Given the description of an element on the screen output the (x, y) to click on. 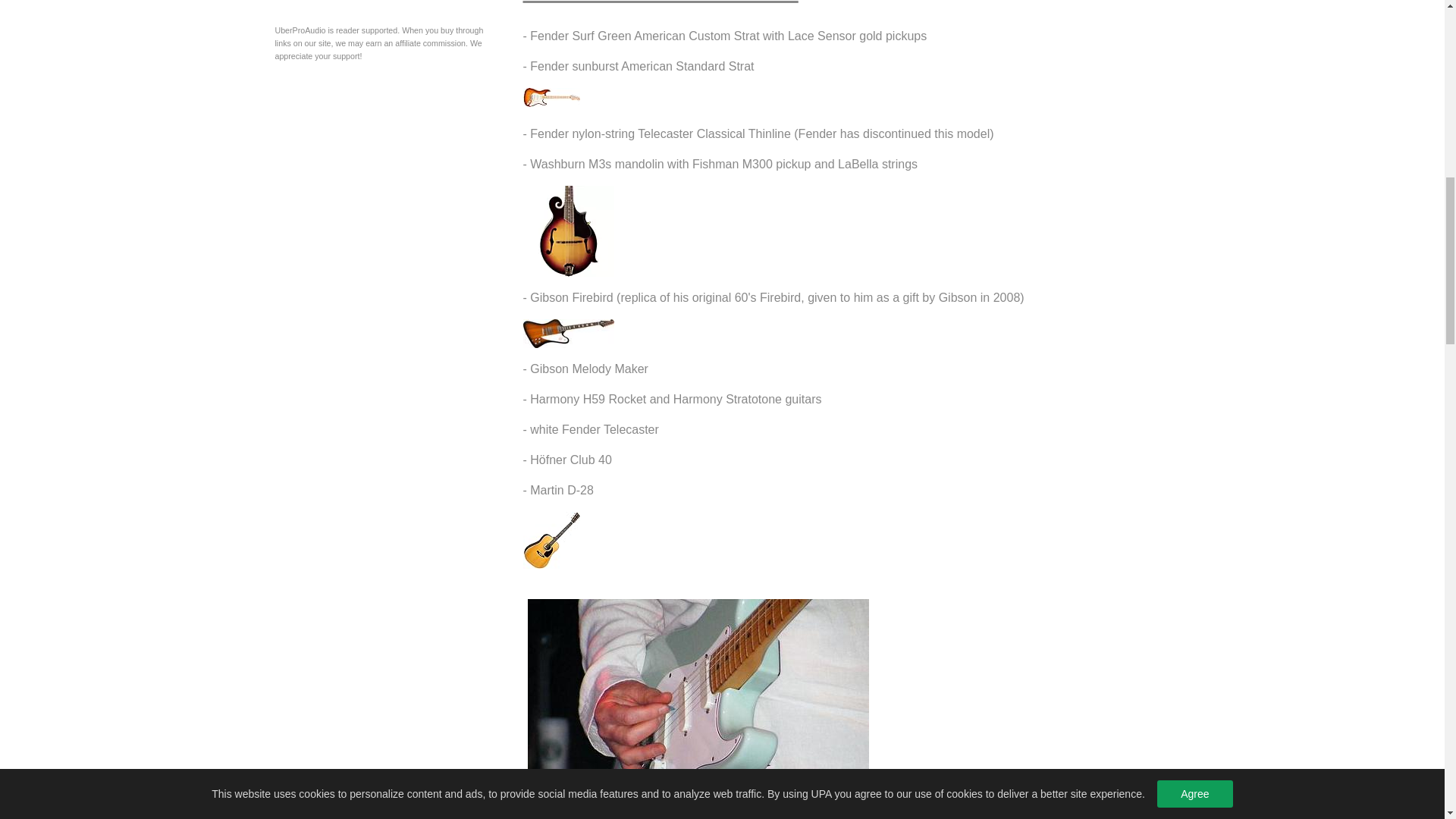
Image by sjrowe53. Creative Commons licensed from flickr (698, 708)
